Given the description of an element on the screen output the (x, y) to click on. 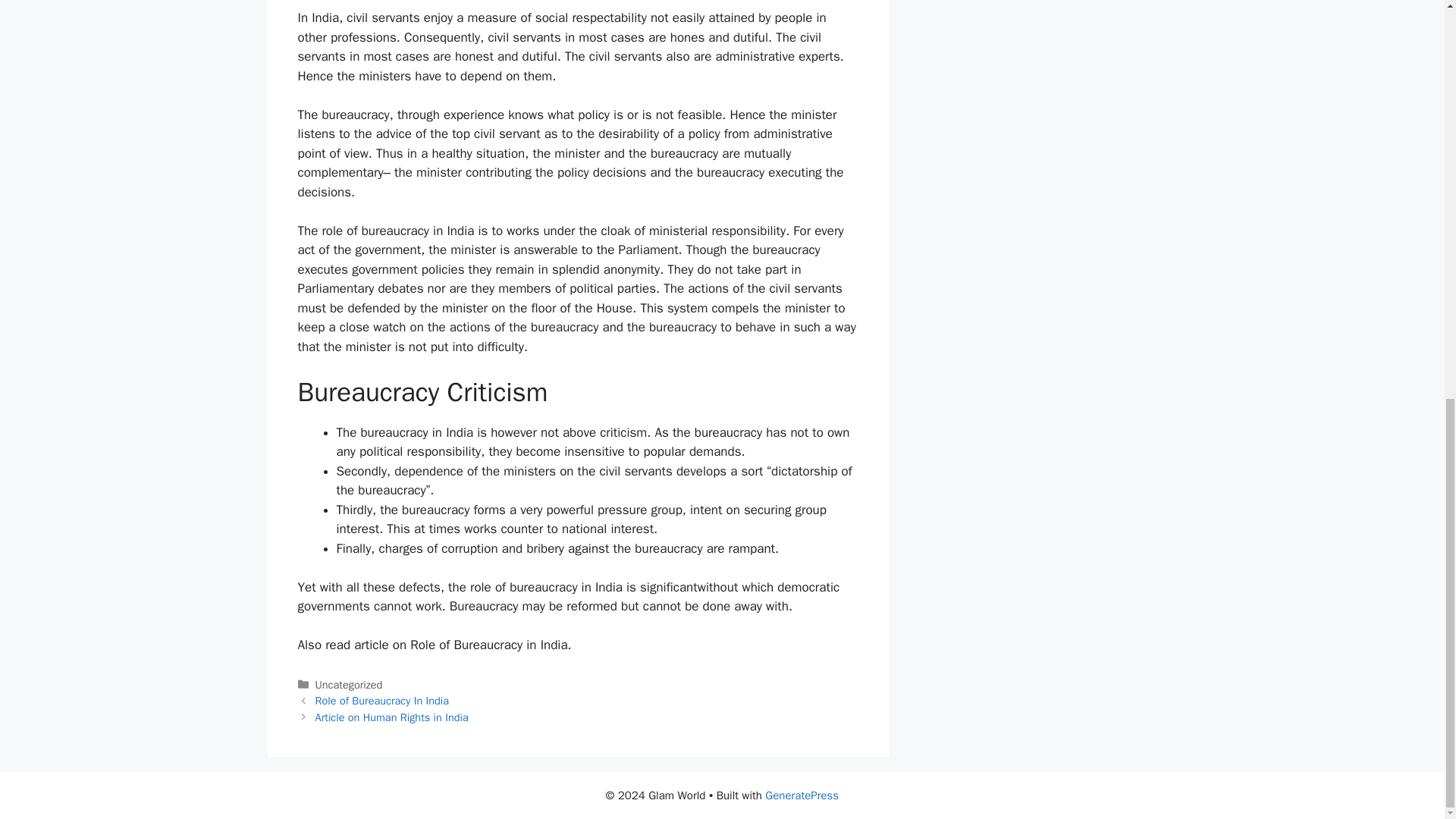
Role of Bureaucracy In India (381, 700)
GeneratePress (801, 795)
Article on Human Rights in India (391, 716)
